Given the description of an element on the screen output the (x, y) to click on. 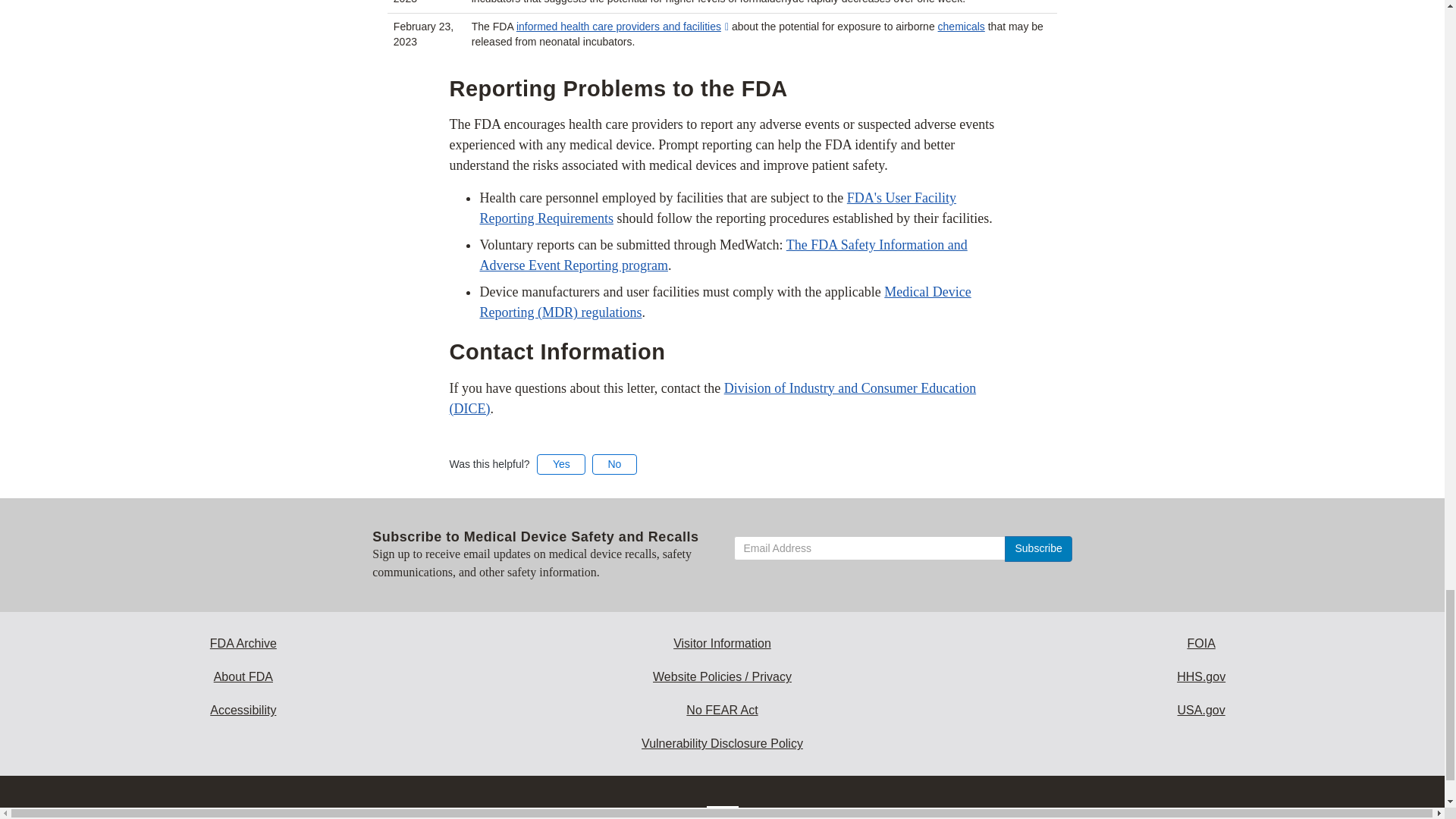
No (614, 464)
Health and Human Services (1200, 676)
Yes (561, 464)
Freedom of Information Act (1200, 643)
Subscribe (1037, 548)
Reporting Serious Problems to FDA (722, 254)
